Given the description of an element on the screen output the (x, y) to click on. 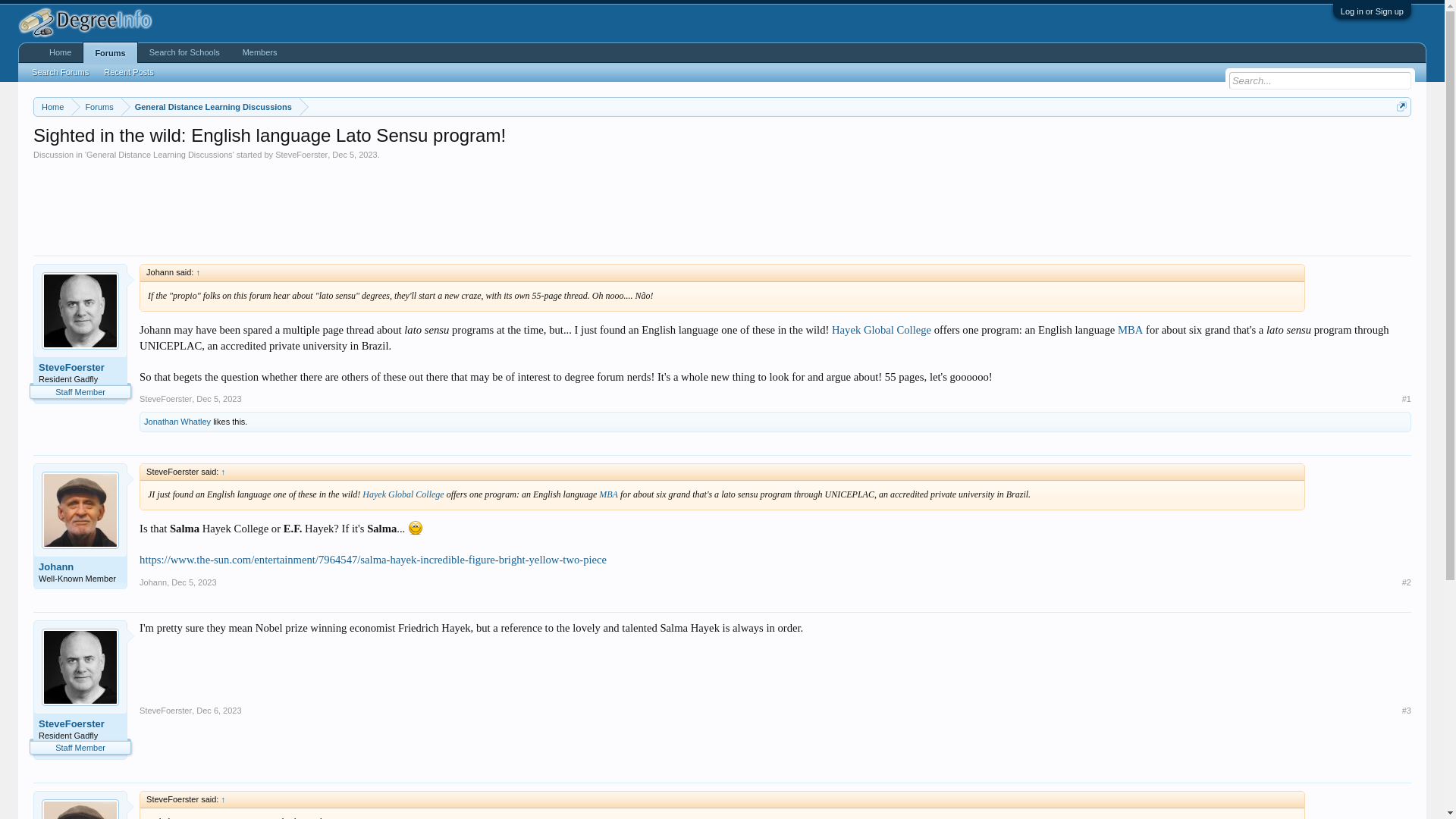
Hayek Global College (402, 493)
Permalink (218, 709)
Forums (95, 107)
Dec 5, 2023 (193, 582)
Dec 5, 2023 (218, 398)
SteveFoerster (80, 724)
SteveFoerster (165, 709)
General Distance Learning Discussions (158, 153)
MBA (1129, 329)
Dec 5, 2023 (354, 153)
Open quick navigation (1401, 106)
SteveFoerster (301, 153)
Dec 6, 2023 (218, 709)
Permalink (193, 582)
General Distance Learning Discussions (209, 107)
